Given the description of an element on the screen output the (x, y) to click on. 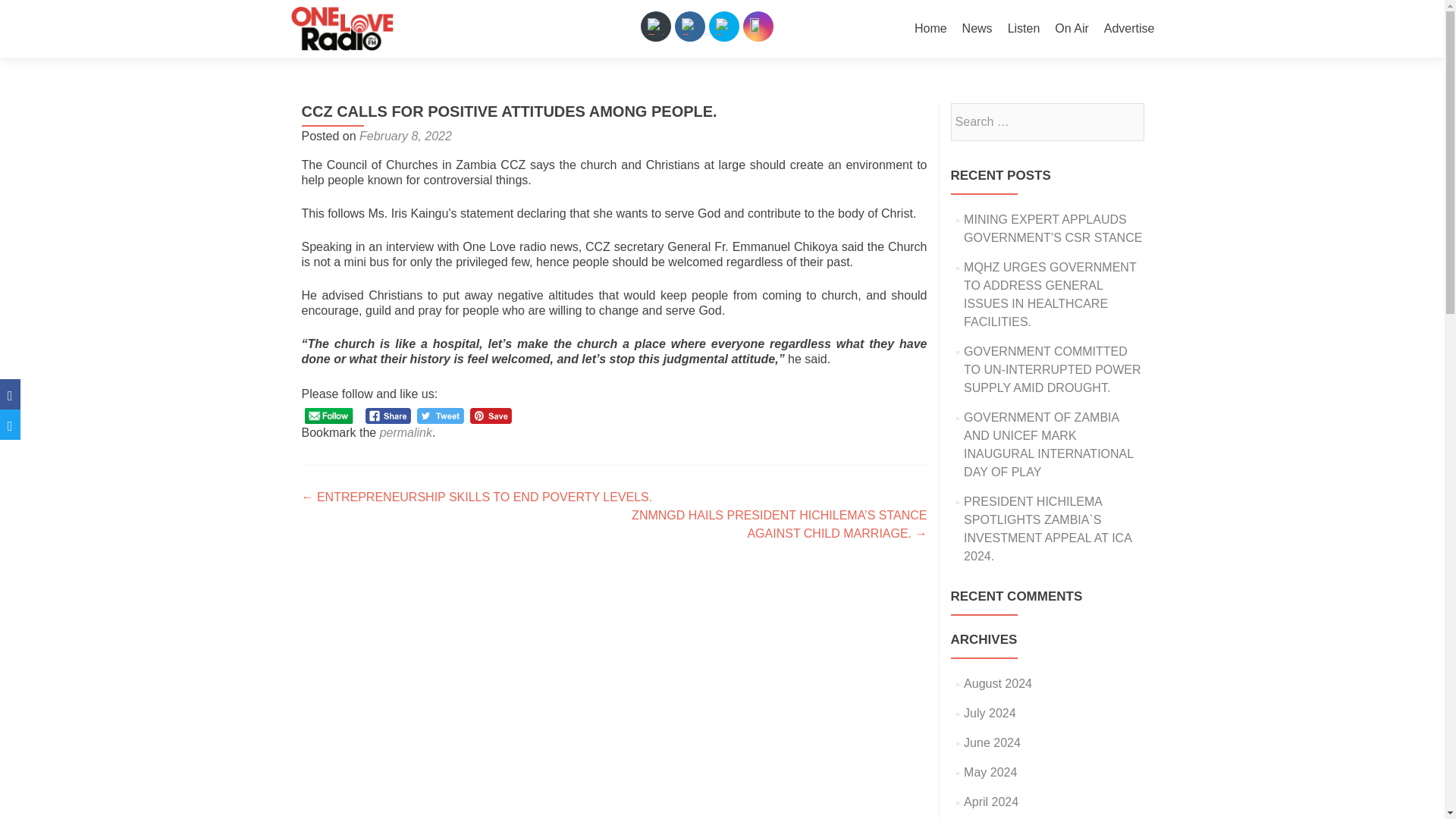
Home (930, 28)
Pin Share (491, 415)
Advertise (1128, 28)
Facebook (689, 26)
July 2024 (989, 712)
Facebook Share (388, 415)
Follow by Email (655, 26)
Twitter (724, 26)
